Given the description of an element on the screen output the (x, y) to click on. 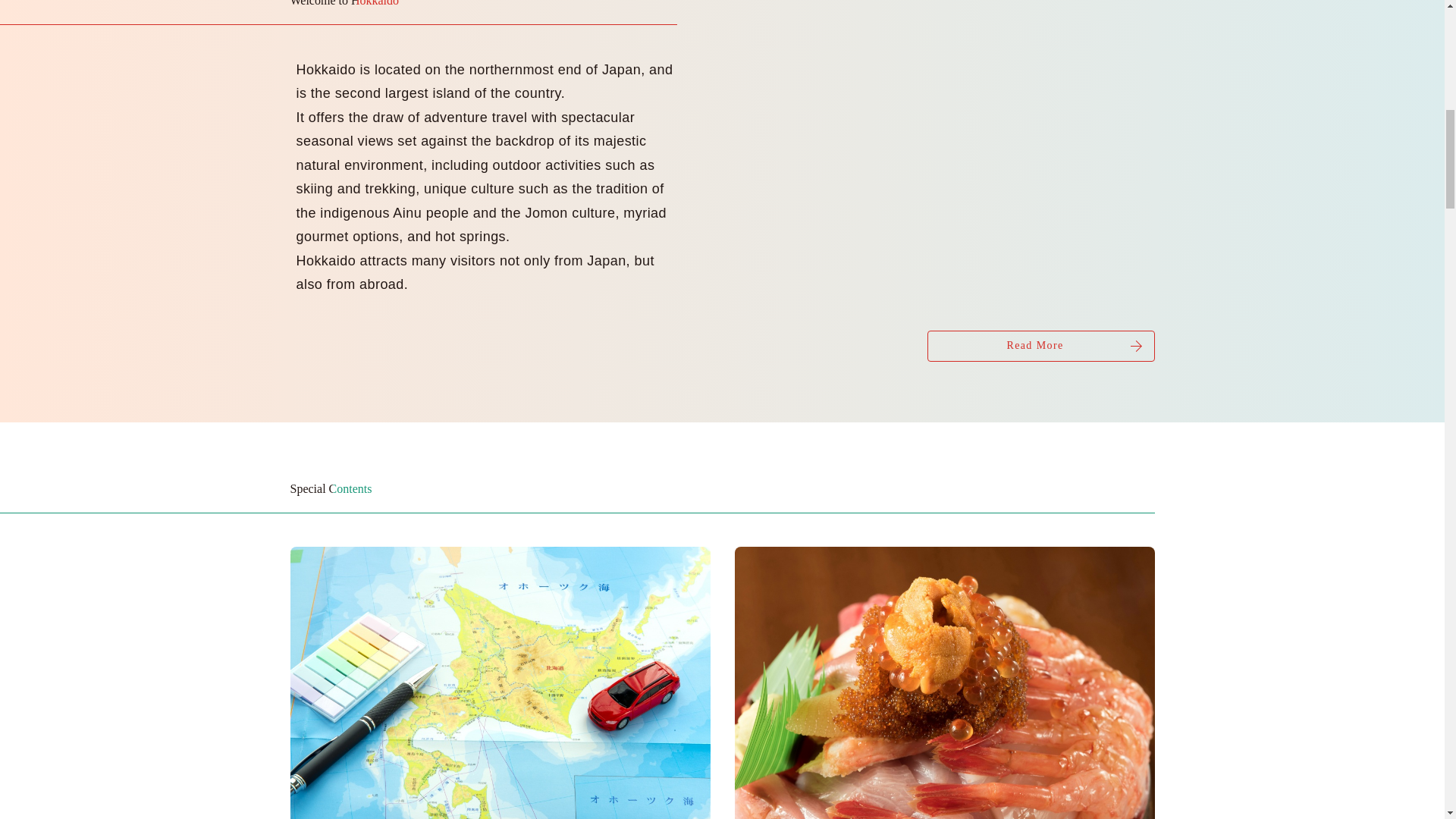
Read More (1040, 345)
